Given the description of an element on the screen output the (x, y) to click on. 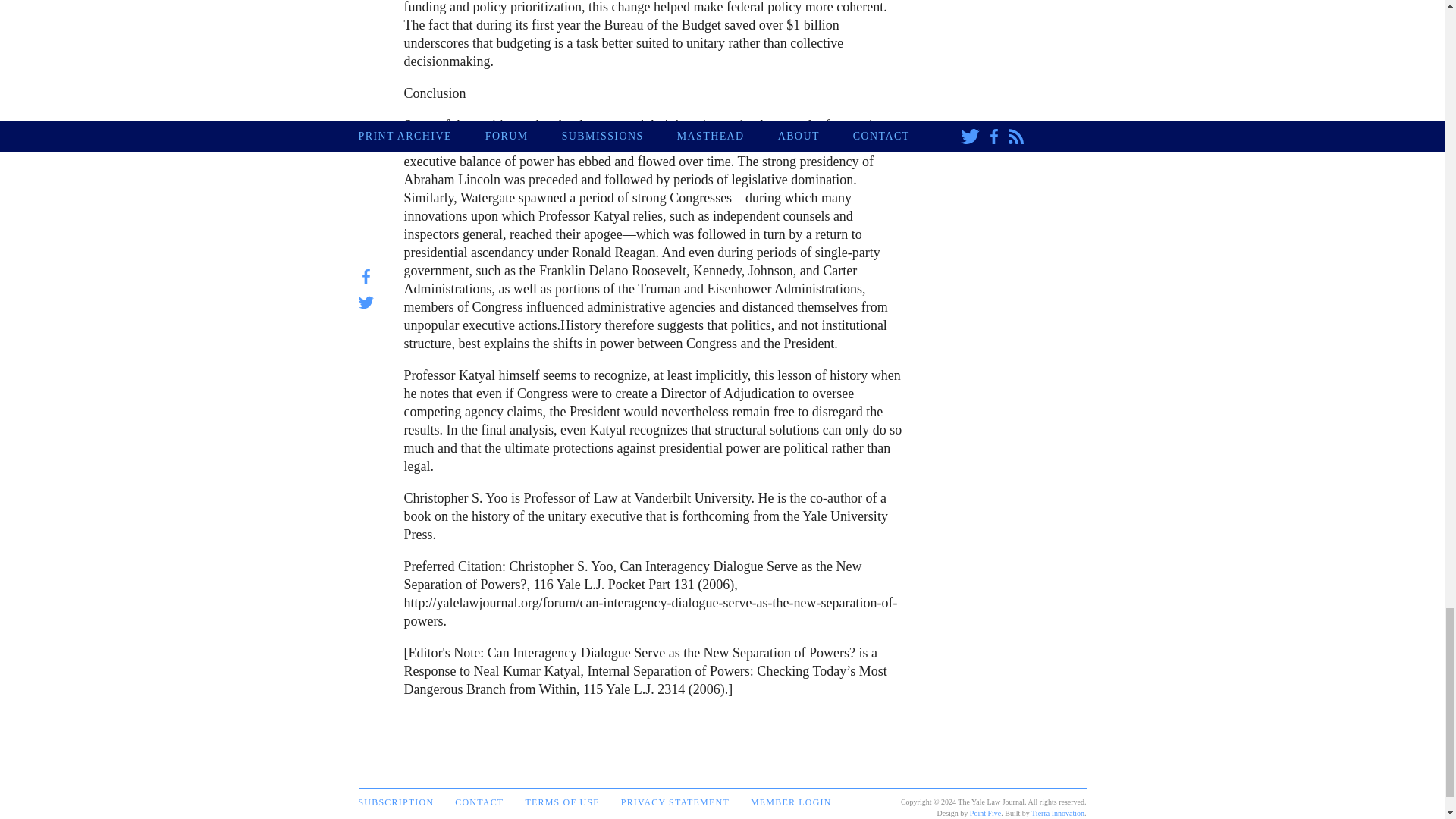
PRIVACY STATEMENT (675, 801)
CONTACT (478, 801)
Tierra Innovation (1057, 813)
MEMBER LOGIN (791, 801)
Point Five (985, 813)
TERMS OF USE (561, 801)
SUBSCRIPTION (395, 801)
